Given the description of an element on the screen output the (x, y) to click on. 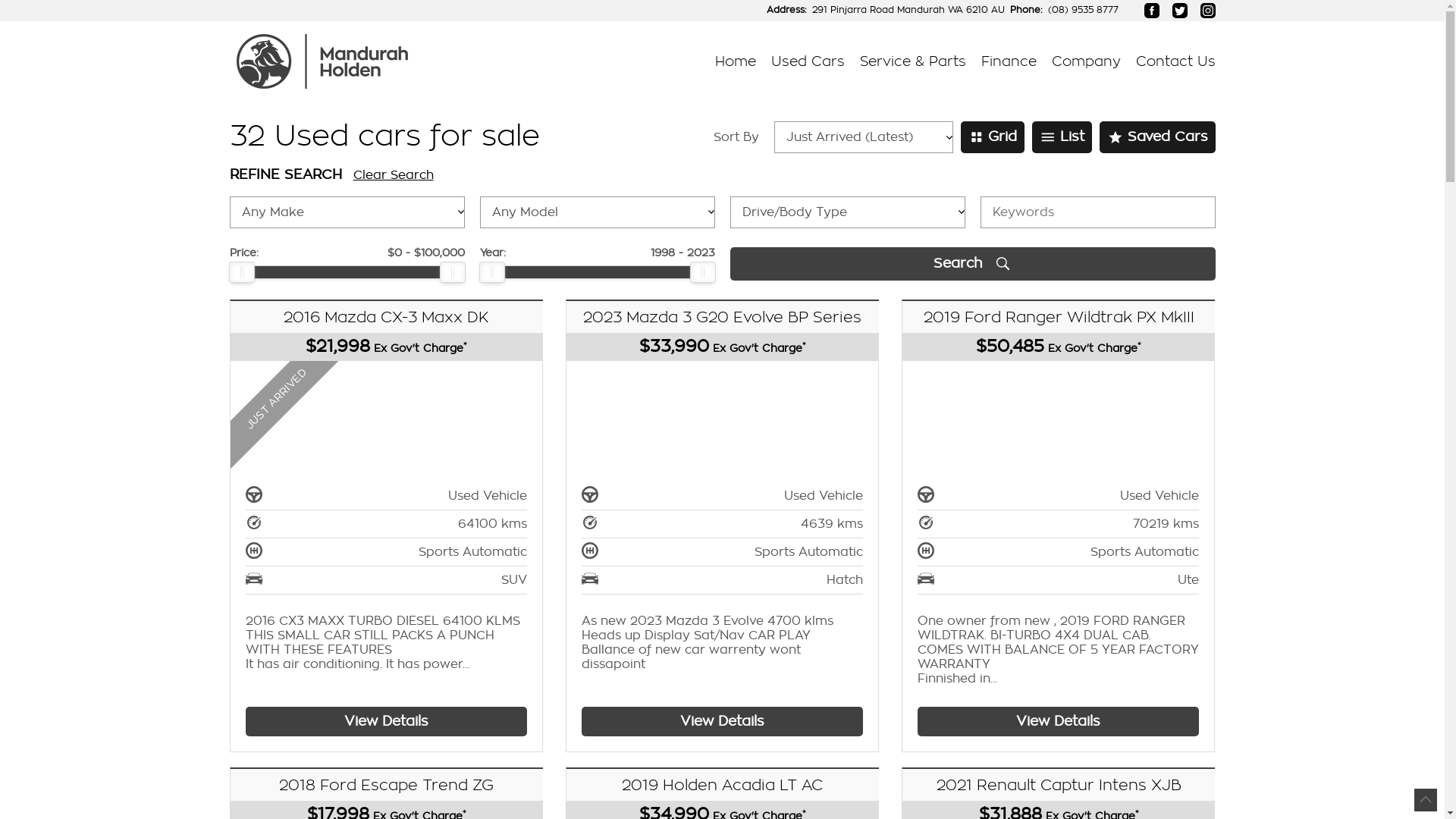
View Details Element type: text (721, 721)
List Element type: text (1062, 137)
View Details Element type: text (386, 721)
291 Pinjarra Road Mandurah WA 6210 AU Element type: text (907, 10)
View Details Element type: text (1057, 721)
Search Element type: text (971, 263)
Company Element type: text (1085, 60)
Saved Cars Element type: text (1157, 137)
Home Element type: text (734, 60)
Grid Element type: text (992, 137)
Contact Us Element type: text (1171, 60)
Finance Element type: text (1008, 60)
Service & Parts Element type: text (912, 60)
(08) 9535 8777 Element type: text (1083, 10)
Clear Search Element type: text (393, 175)
Used Cars Element type: text (806, 60)
